Given the description of an element on the screen output the (x, y) to click on. 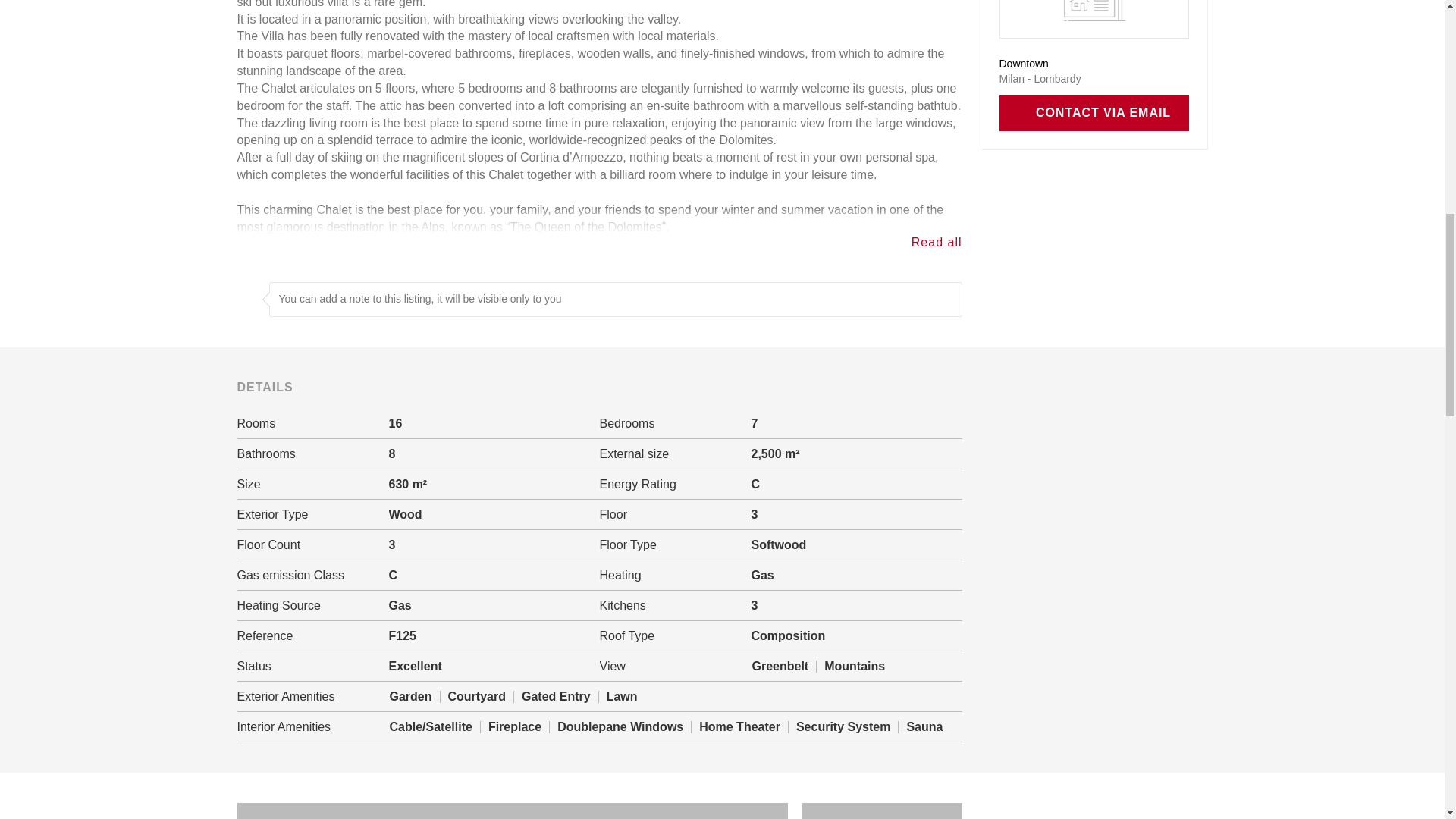
Read all (936, 241)
